Given the description of an element on the screen output the (x, y) to click on. 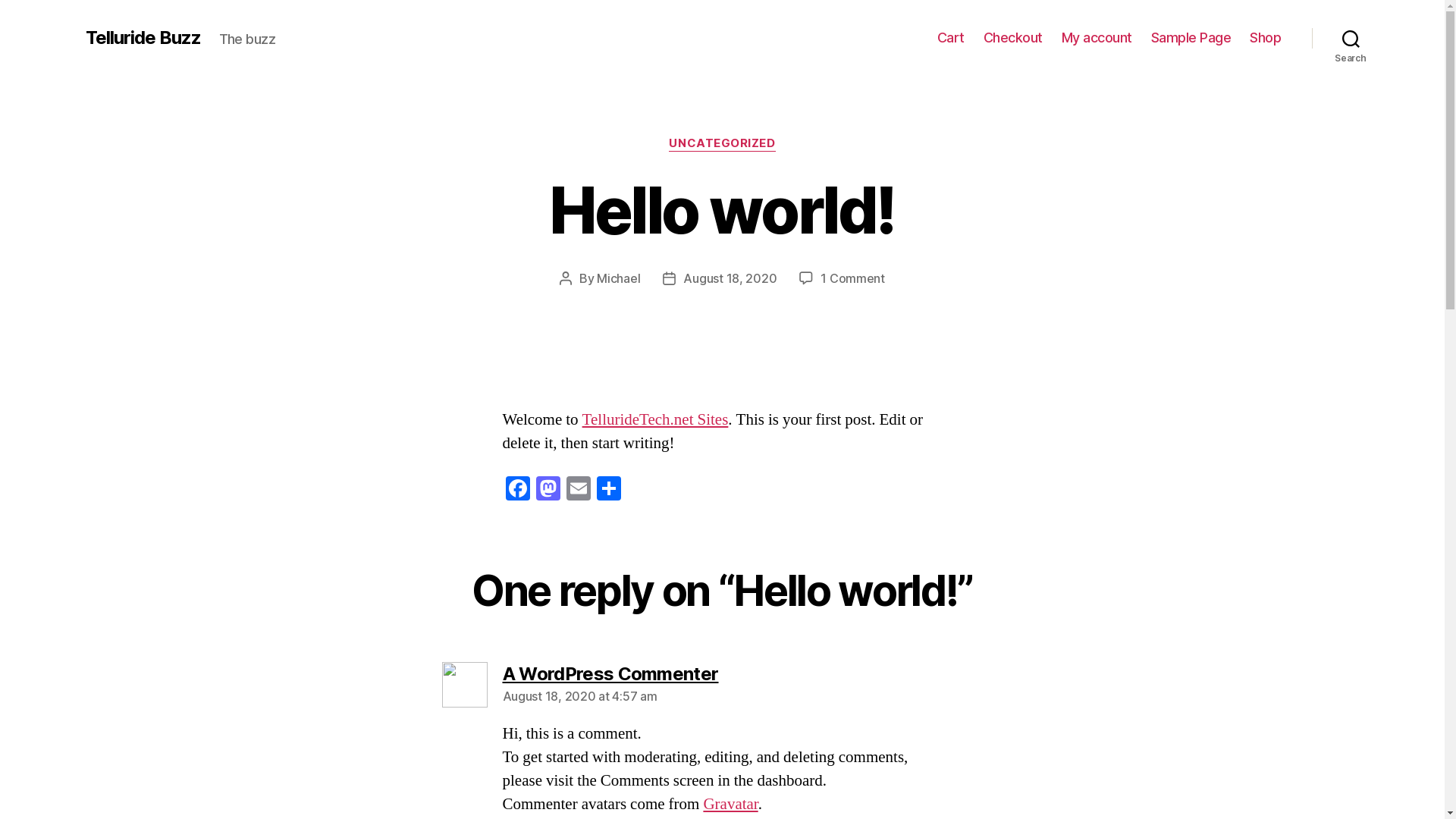
Share Element type: text (608, 490)
Cart Element type: text (950, 37)
Gravatar Element type: text (729, 803)
A WordPress Commenter
says: Element type: text (610, 673)
My account Element type: text (1096, 37)
August 18, 2020 at 4:57 am Element type: text (579, 695)
Checkout Element type: text (1012, 37)
Telluride Buzz Element type: text (142, 37)
1 Comment
on Hello world! Element type: text (852, 277)
UNCATEGORIZED Element type: text (721, 143)
Email Element type: text (577, 490)
Facebook Element type: text (517, 490)
Shop Element type: text (1264, 37)
TellurideTech.net Sites Element type: text (655, 419)
Sample Page Element type: text (1191, 37)
Michael Element type: text (618, 277)
August 18, 2020 Element type: text (729, 277)
Search Element type: text (1350, 37)
Mastodon Element type: text (547, 490)
